Given the description of an element on the screen output the (x, y) to click on. 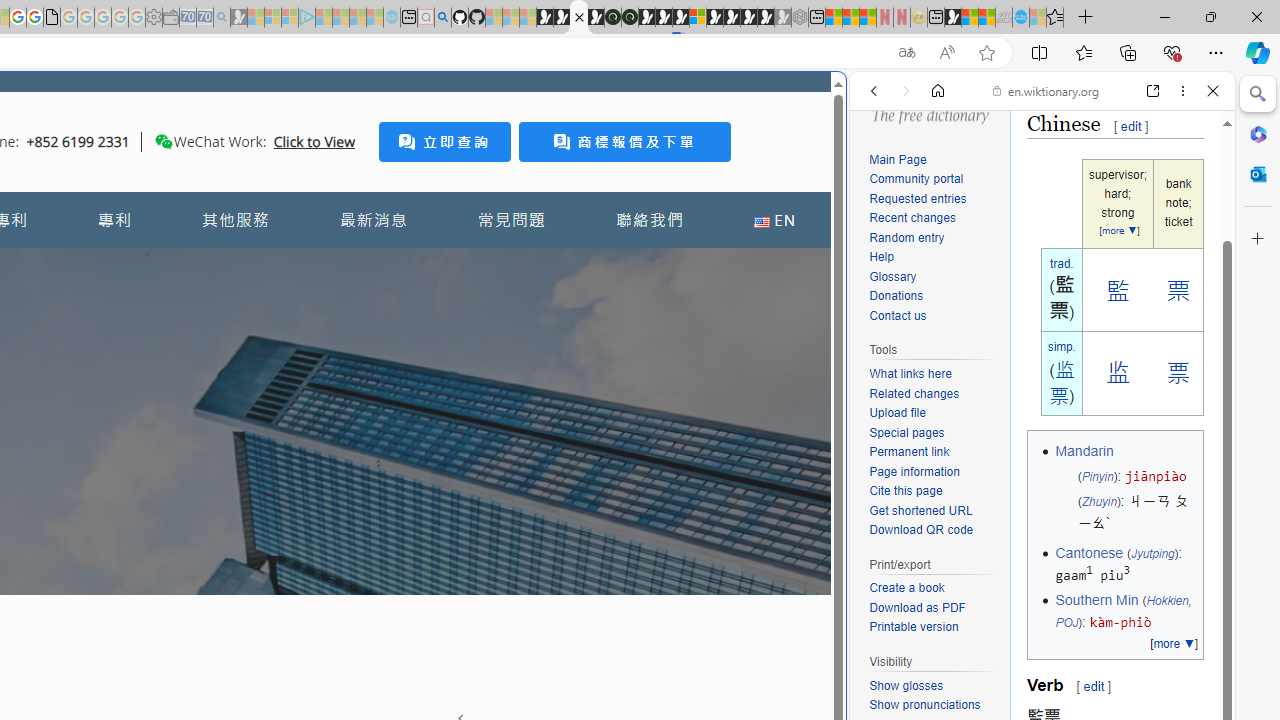
Hokkien (1167, 600)
Get shortened URL (934, 511)
Glossary (892, 276)
edit (1093, 686)
google_privacy_policy_zh-CN.pdf (51, 17)
Contact us (897, 315)
